Given the description of an element on the screen output the (x, y) to click on. 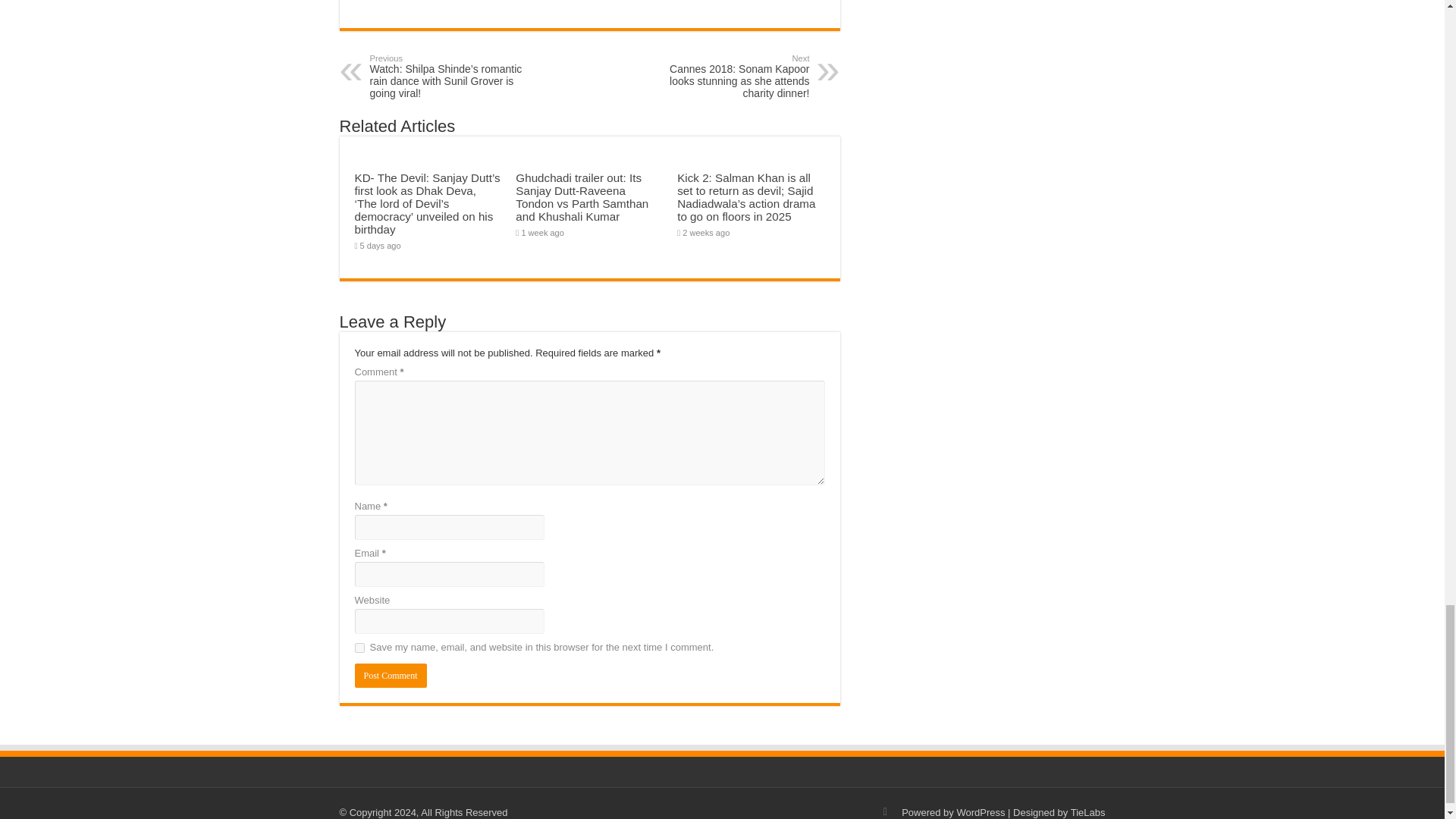
yes (360, 647)
Post Comment (390, 675)
